Given the description of an element on the screen output the (x, y) to click on. 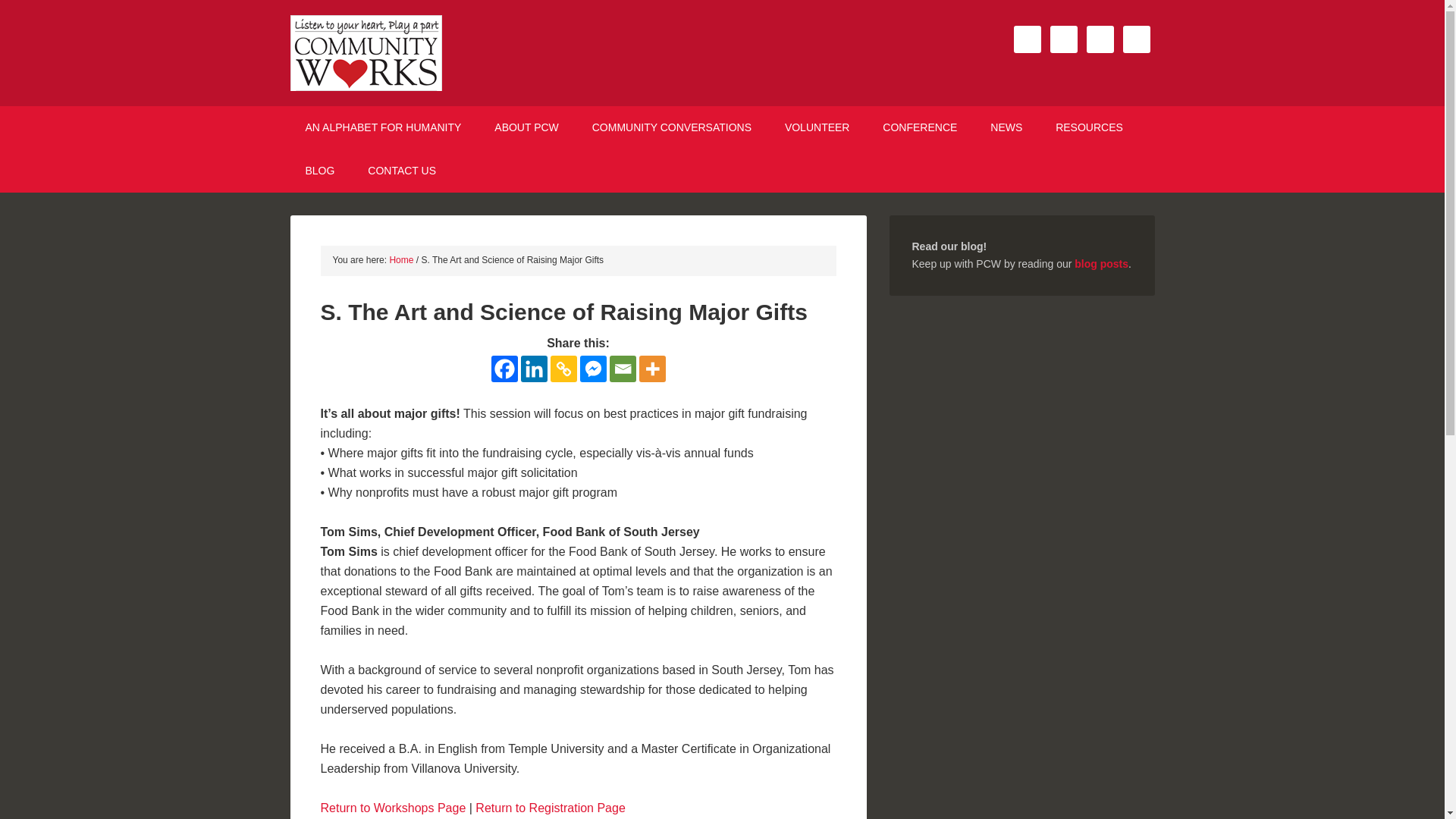
COMMUNITY CONVERSATIONS (671, 127)
ABOUT PCW (526, 127)
Linkedin (533, 367)
Facebook (505, 367)
Return to Workshops Page (392, 807)
AN ALPHABET FOR HUMANITY (382, 127)
VOLUNTEER (817, 127)
Copy Link (563, 367)
CONTACT US (401, 170)
COMMUNITY WORKS (418, 52)
